Given the description of an element on the screen output the (x, y) to click on. 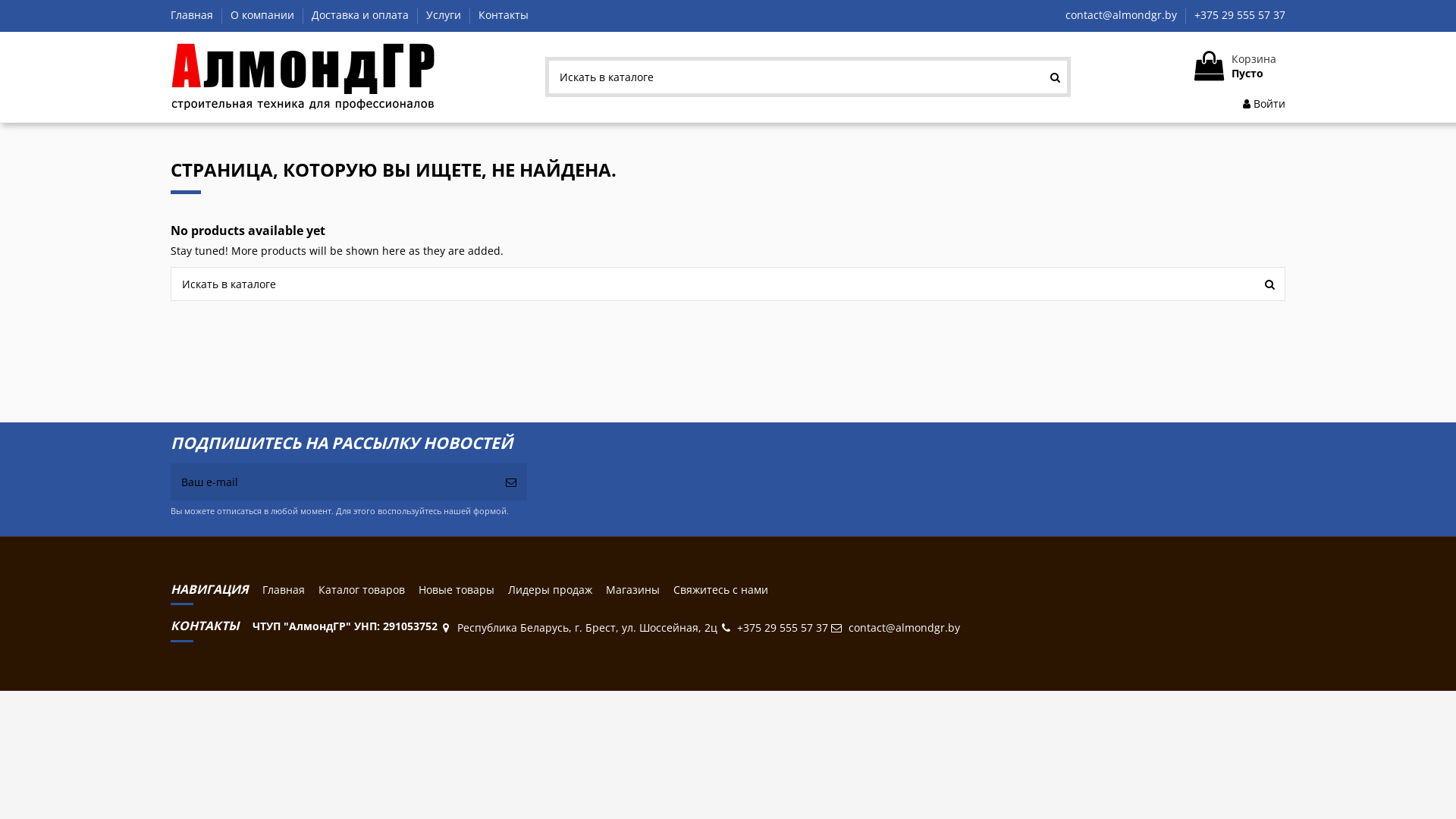
contact@almondgr.by Element type: text (904, 627)
+375 29 555 57 37 Element type: text (782, 627)
+375 29 555 57 37 Element type: text (1239, 14)
contact@almondgr.by Element type: text (1122, 14)
